Given the description of an element on the screen output the (x, y) to click on. 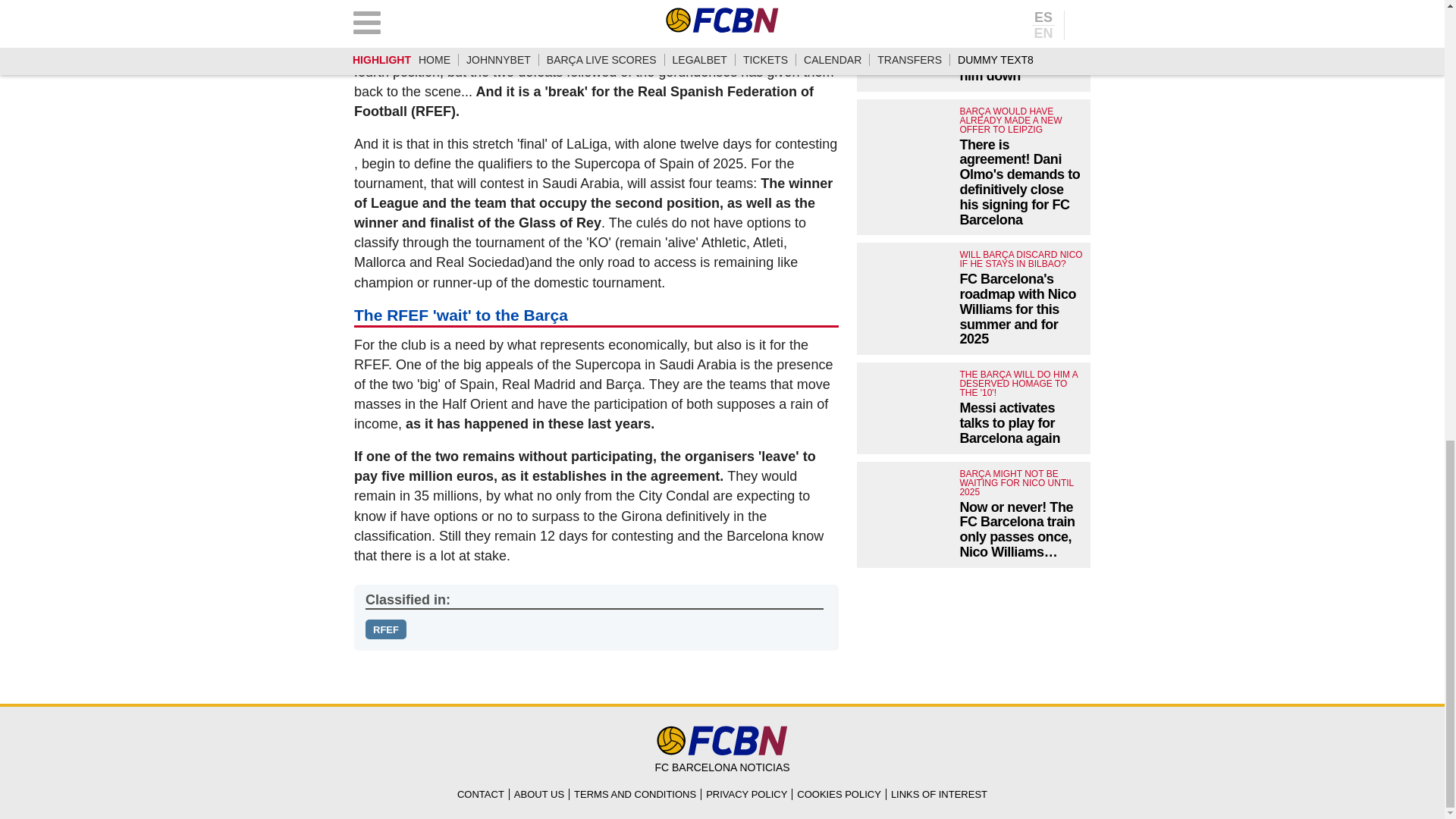
RFEF (385, 629)
